Given the description of an element on the screen output the (x, y) to click on. 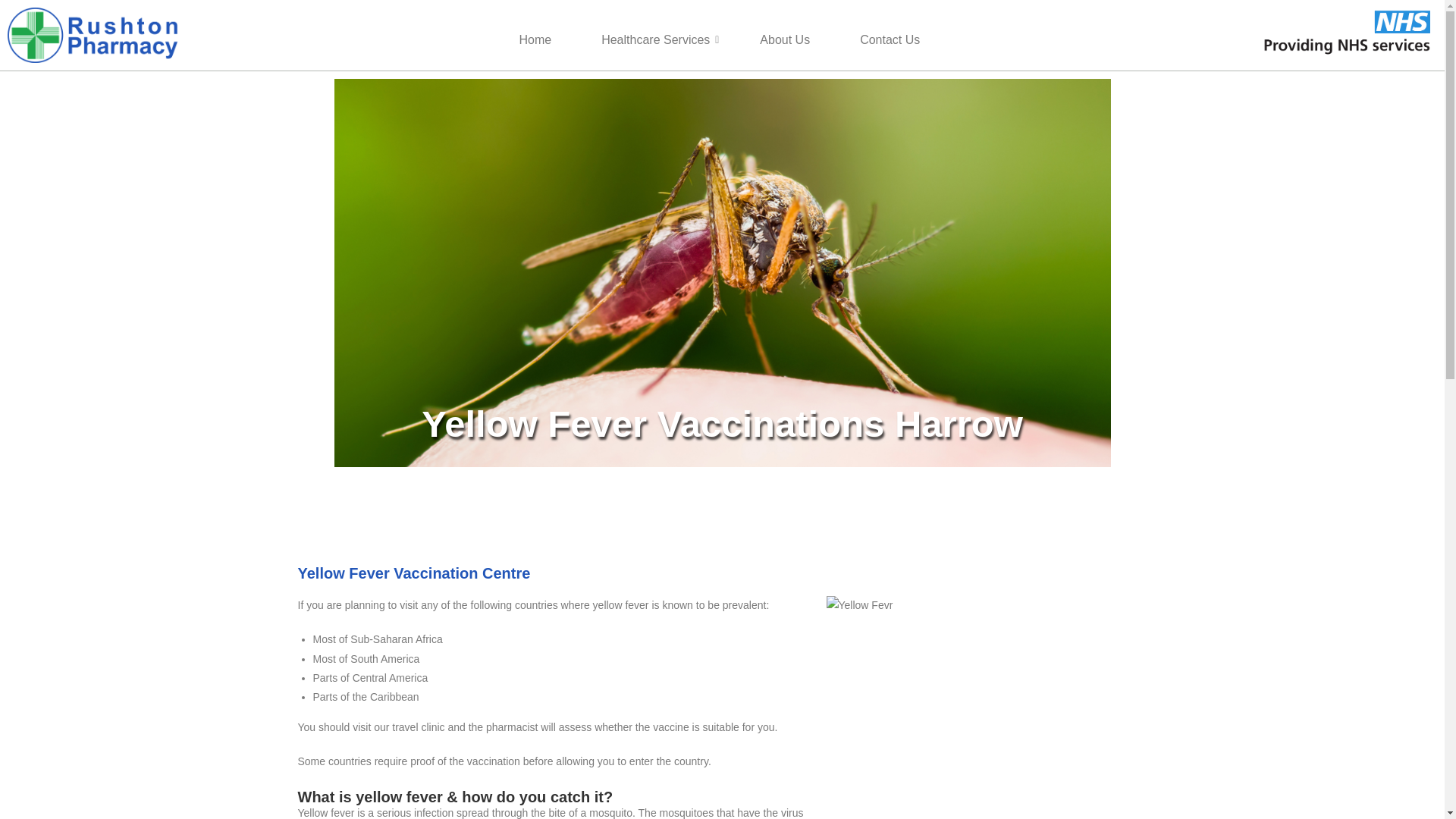
Contact Us (889, 40)
Home (534, 40)
About Us (784, 40)
Healthcare Services (655, 40)
